Given the description of an element on the screen output the (x, y) to click on. 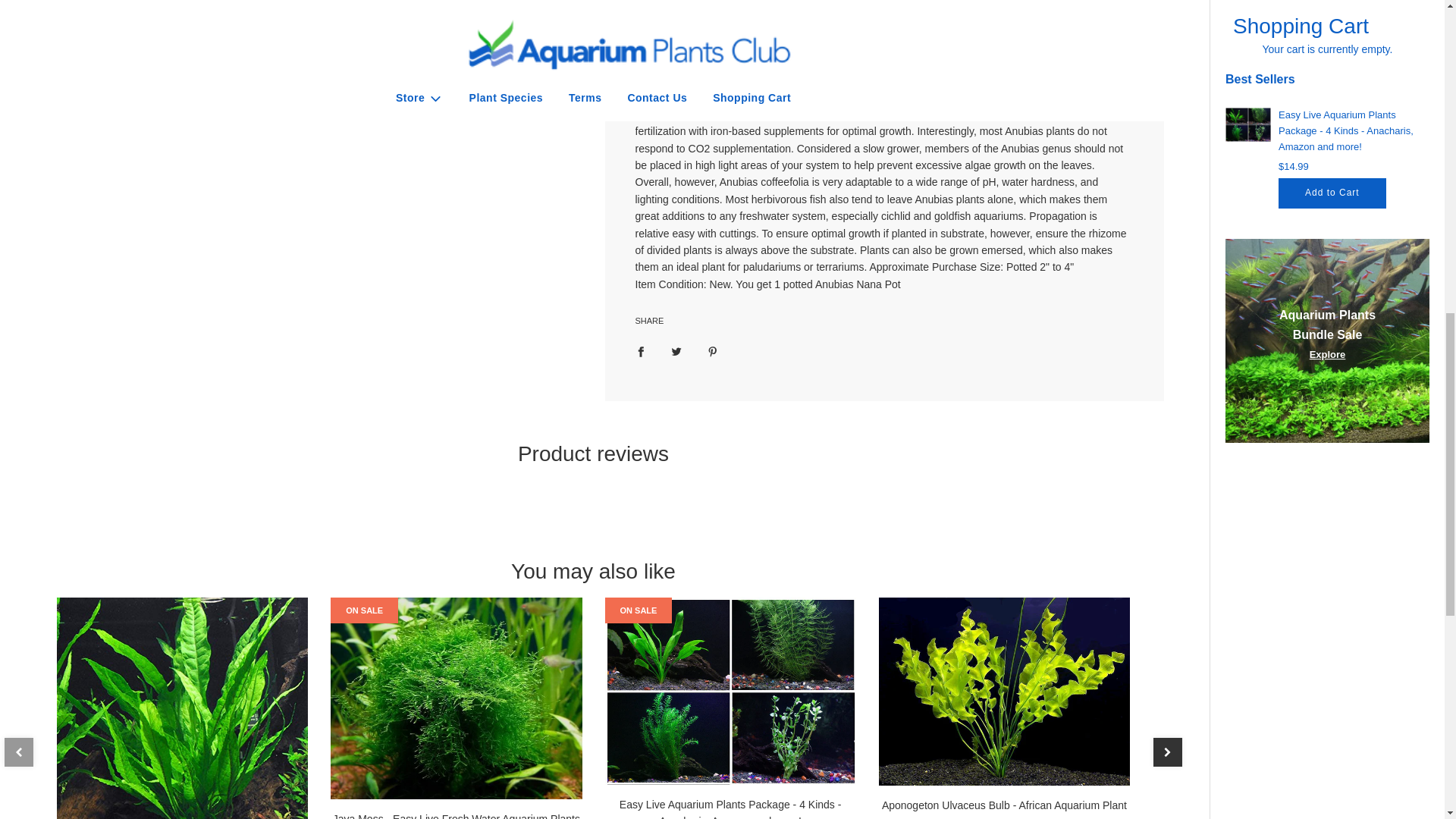
Aponogeton Ulvaceus Bulb - African Aquarium Plant (1004, 691)
Java Moss - Easy Live Fresh Water Aquarium Plants (455, 698)
